Given the description of an element on the screen output the (x, y) to click on. 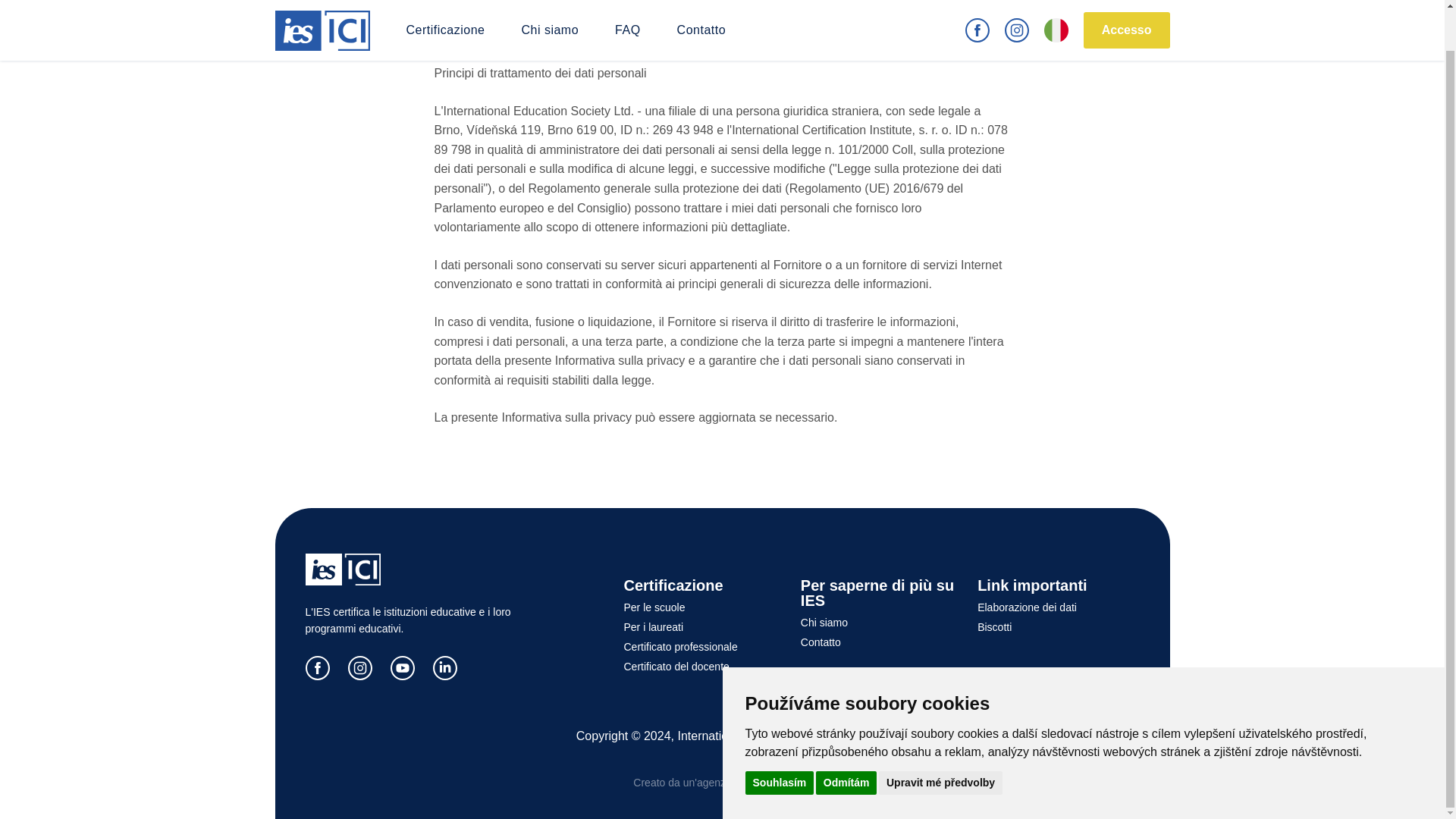
Accesso (1126, 2)
Contatto (701, 9)
Chi siamo (549, 9)
FAQ (627, 9)
